Given the description of an element on the screen output the (x, y) to click on. 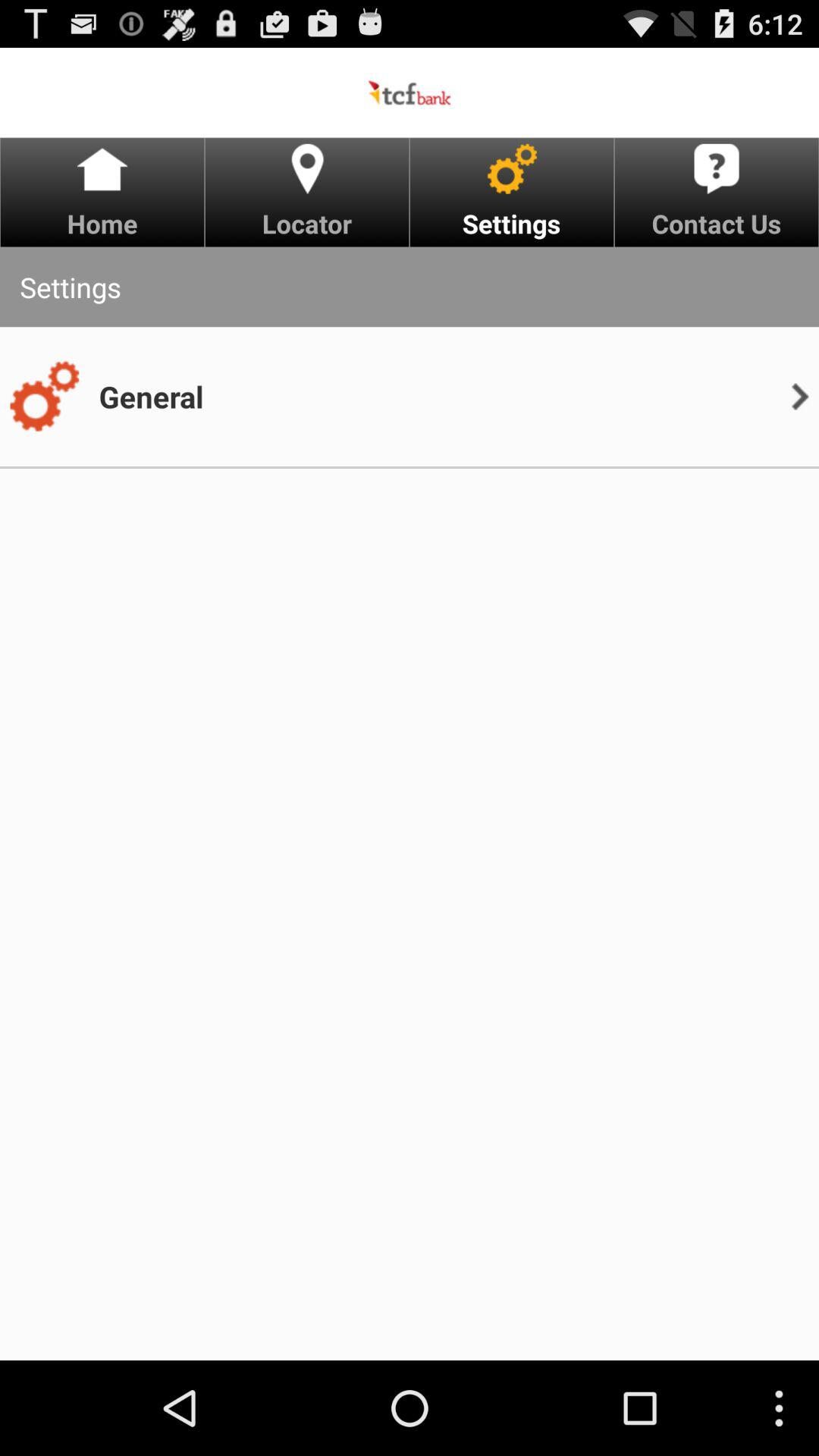
choose the item next to general icon (44, 396)
